Given the description of an element on the screen output the (x, y) to click on. 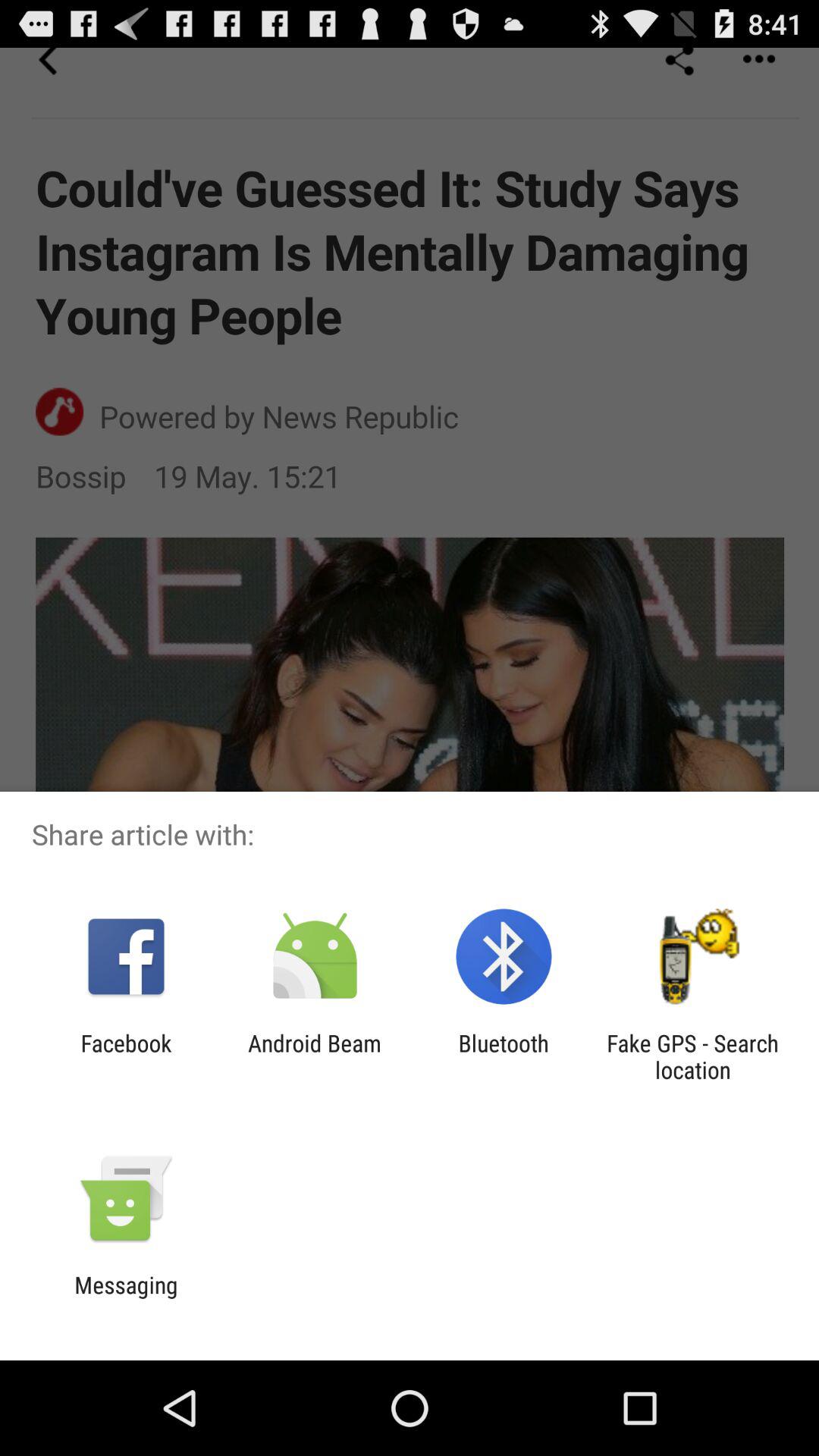
jump until fake gps search app (692, 1056)
